Given the description of an element on the screen output the (x, y) to click on. 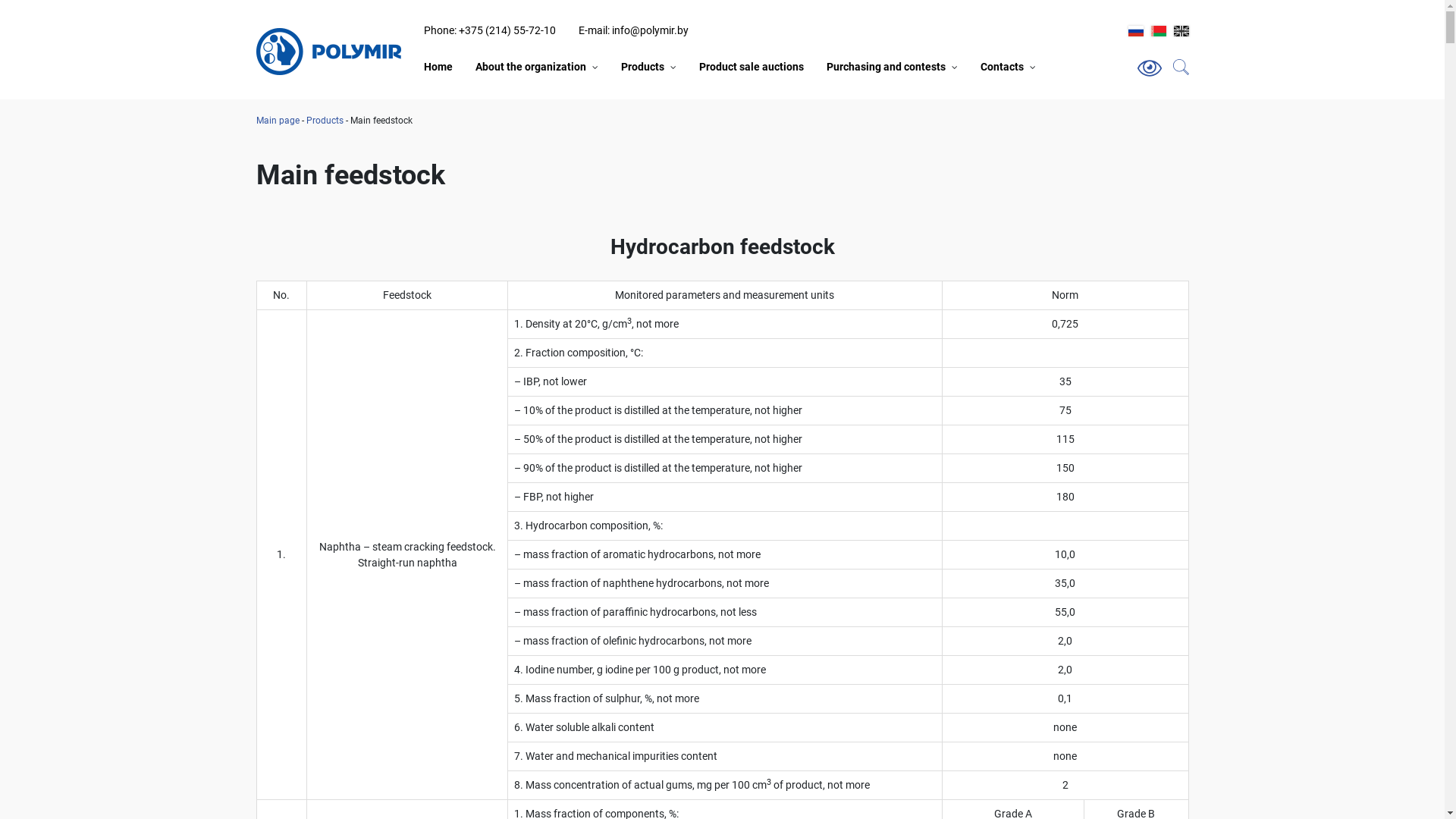
E-mail: info@polymir.by Element type: text (632, 30)
General information Element type: text (526, 88)
Home Element type: text (437, 66)
Main page Element type: text (277, 120)
Low density polyethylene Element type: text (943, 88)
Purchase of chemical raw materials and auxiliary materials Element type: text (921, 96)
Product sale auctions Element type: text (751, 66)
Purchase of freight forwarding services Element type: text (921, 88)
Contacts Element type: text (1000, 66)
Purchasing and contests Element type: text (885, 66)
Phone: +375 (214) 55-72-10 Element type: text (489, 30)
About the organization Element type: text (529, 66)
Products Element type: text (324, 120)
Products Element type: text (641, 66)
Product Catalogue Element type: text (717, 88)
Departments Element type: text (1010, 88)
Search Element type: text (1125, 65)
